Given the description of an element on the screen output the (x, y) to click on. 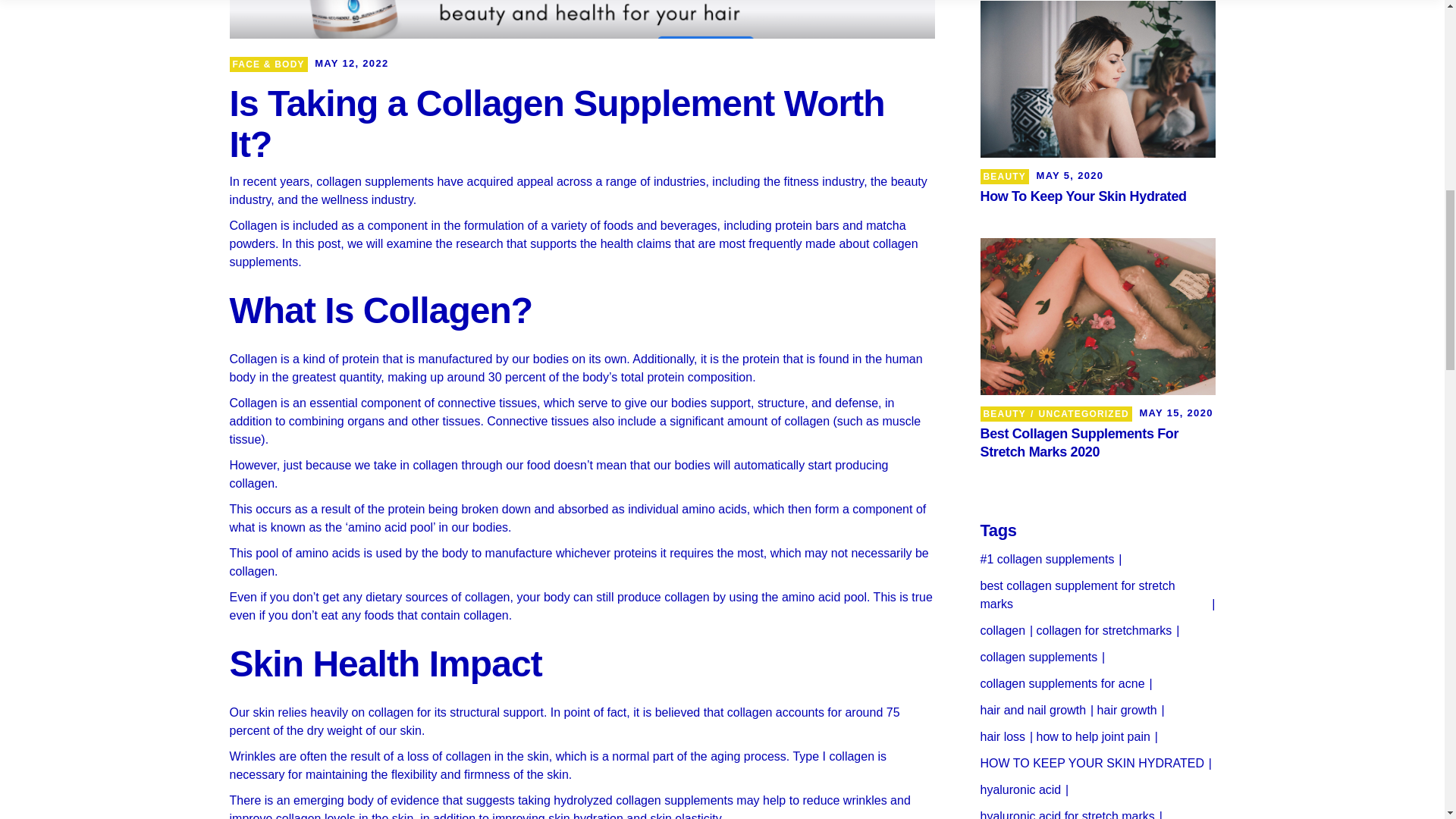
MAY 12, 2022 (351, 63)
